Given the description of an element on the screen output the (x, y) to click on. 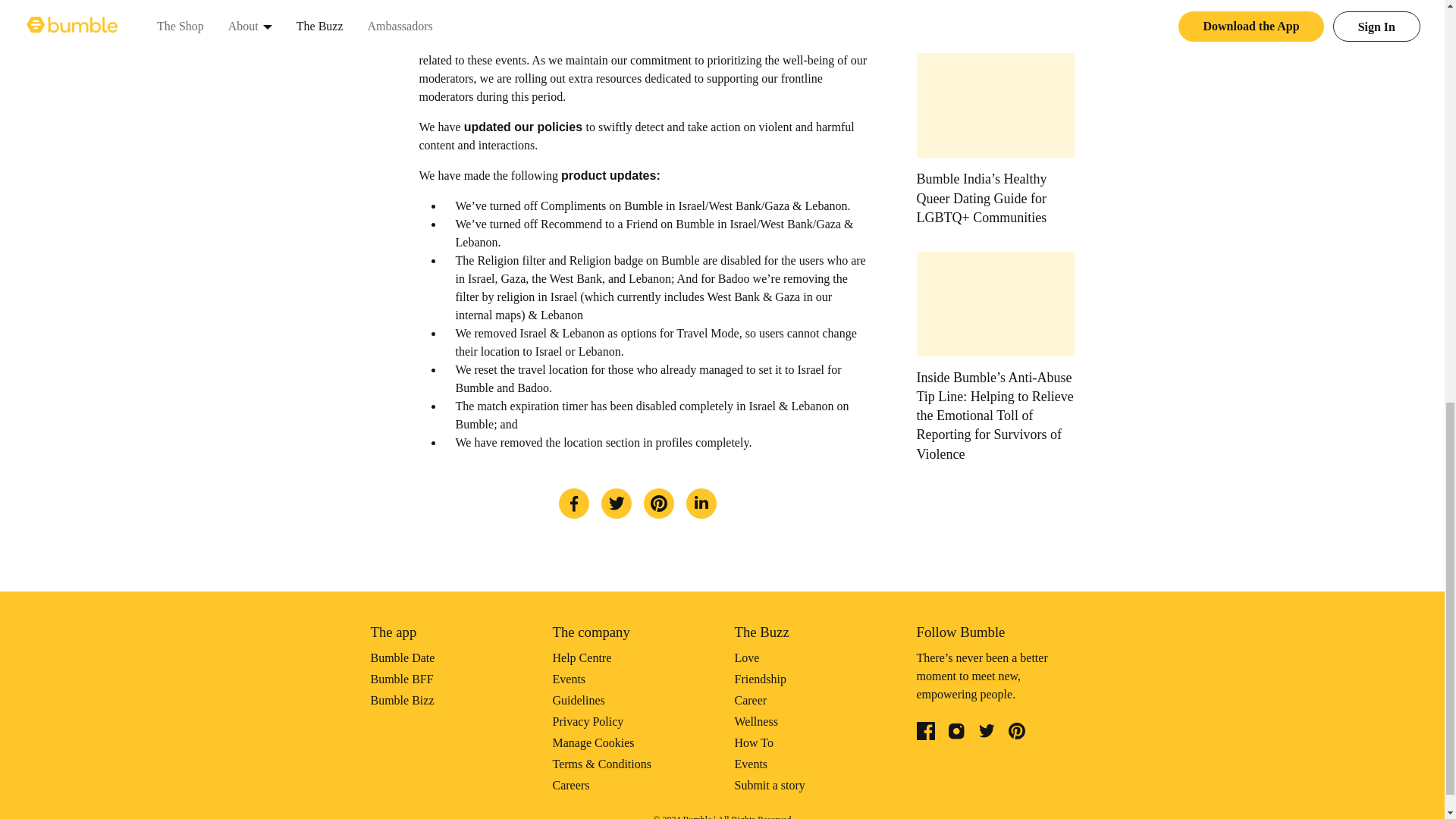
The app (392, 631)
Help Centre (581, 657)
Career (750, 699)
Love (745, 657)
Events (750, 763)
The company (589, 631)
Bumble Bizz (401, 699)
Bumble Bizz (401, 699)
Privacy Policy (587, 721)
Careers (570, 784)
Love (745, 657)
Bumble Date (401, 657)
Submit a story (769, 784)
Guidelines (577, 699)
The company (589, 631)
